Given the description of an element on the screen output the (x, y) to click on. 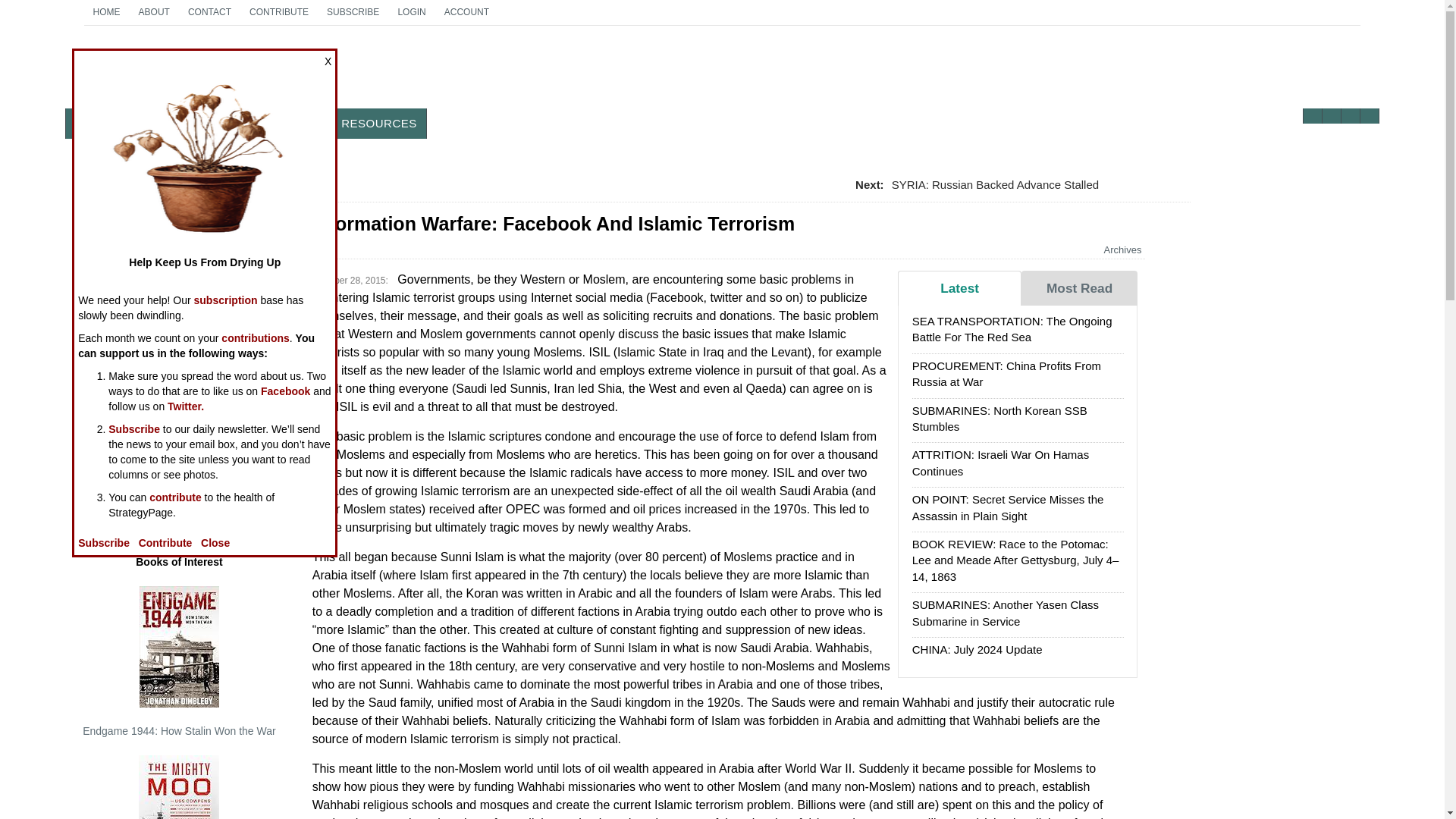
FEATURES (161, 123)
NEWS (92, 123)
CONTACT (209, 12)
RESOURCES (378, 123)
SUBSCRIBE (352, 12)
LOGIN (410, 12)
CONTRIBUTE (181, 72)
ACCOUNT (278, 12)
PHOTOS (466, 12)
HOME (236, 123)
ABOUT (106, 12)
OTHER (154, 12)
